Given the description of an element on the screen output the (x, y) to click on. 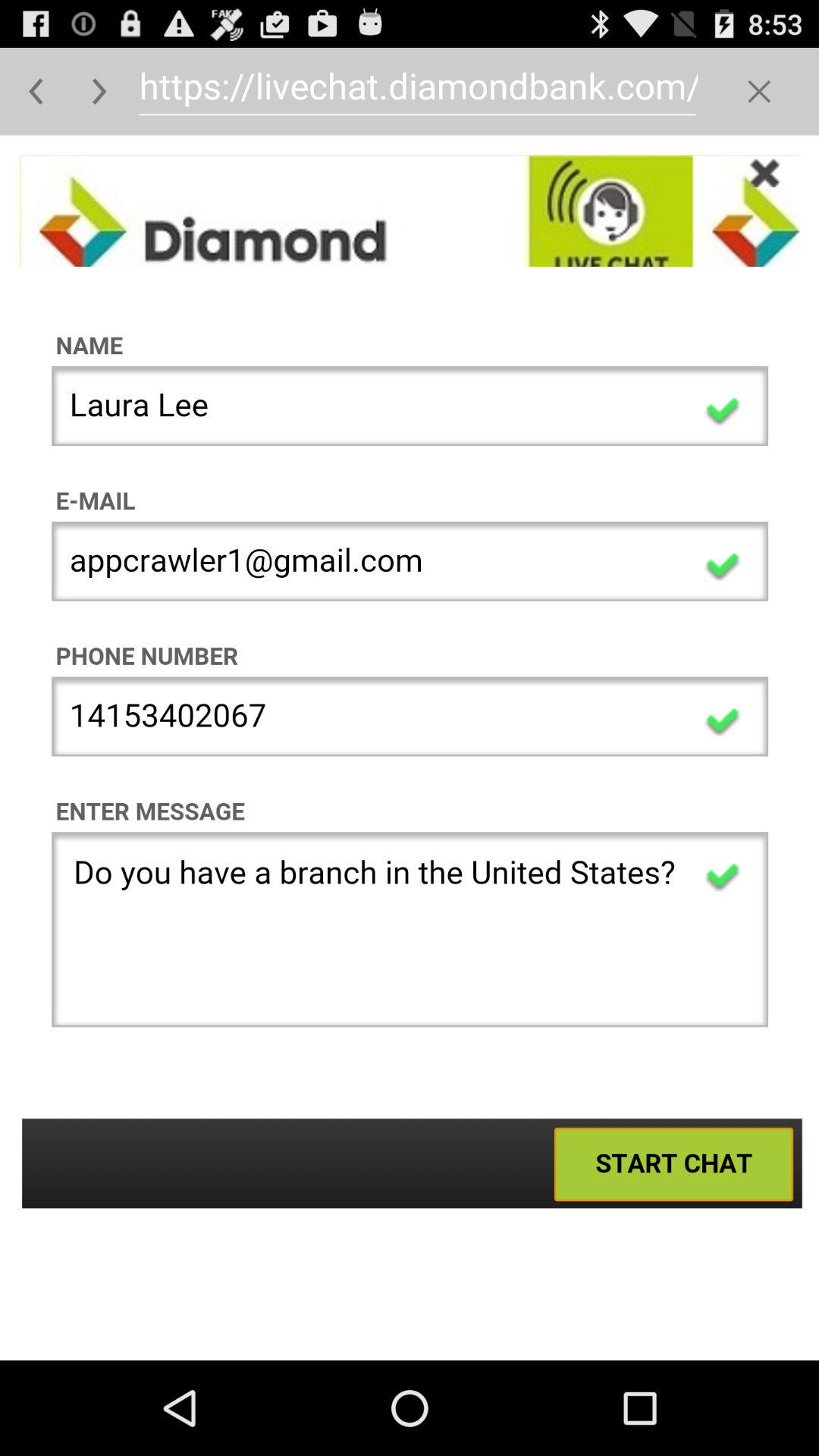
exit page (759, 91)
